Given the description of an element on the screen output the (x, y) to click on. 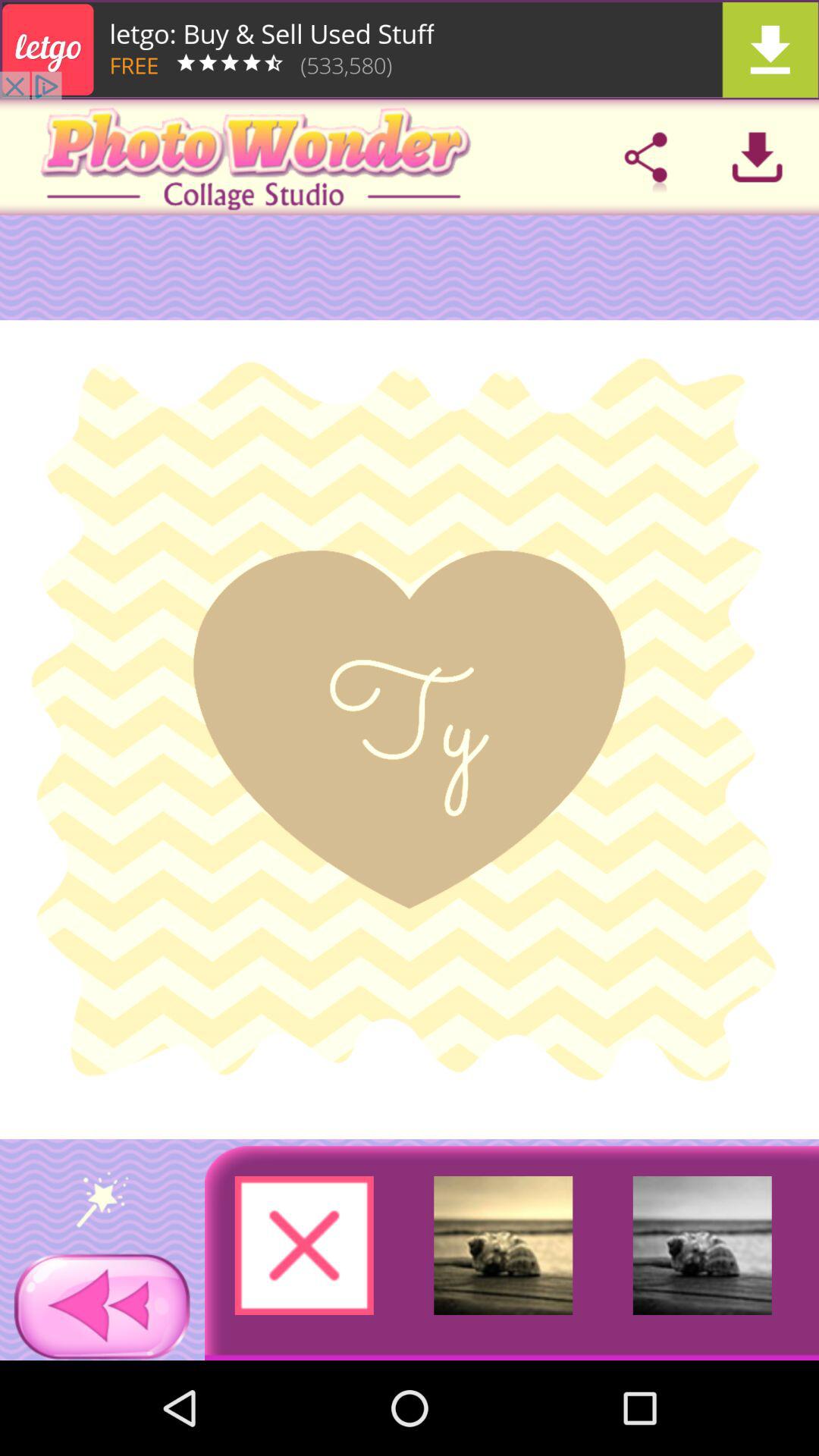
download (757, 157)
